Given the description of an element on the screen output the (x, y) to click on. 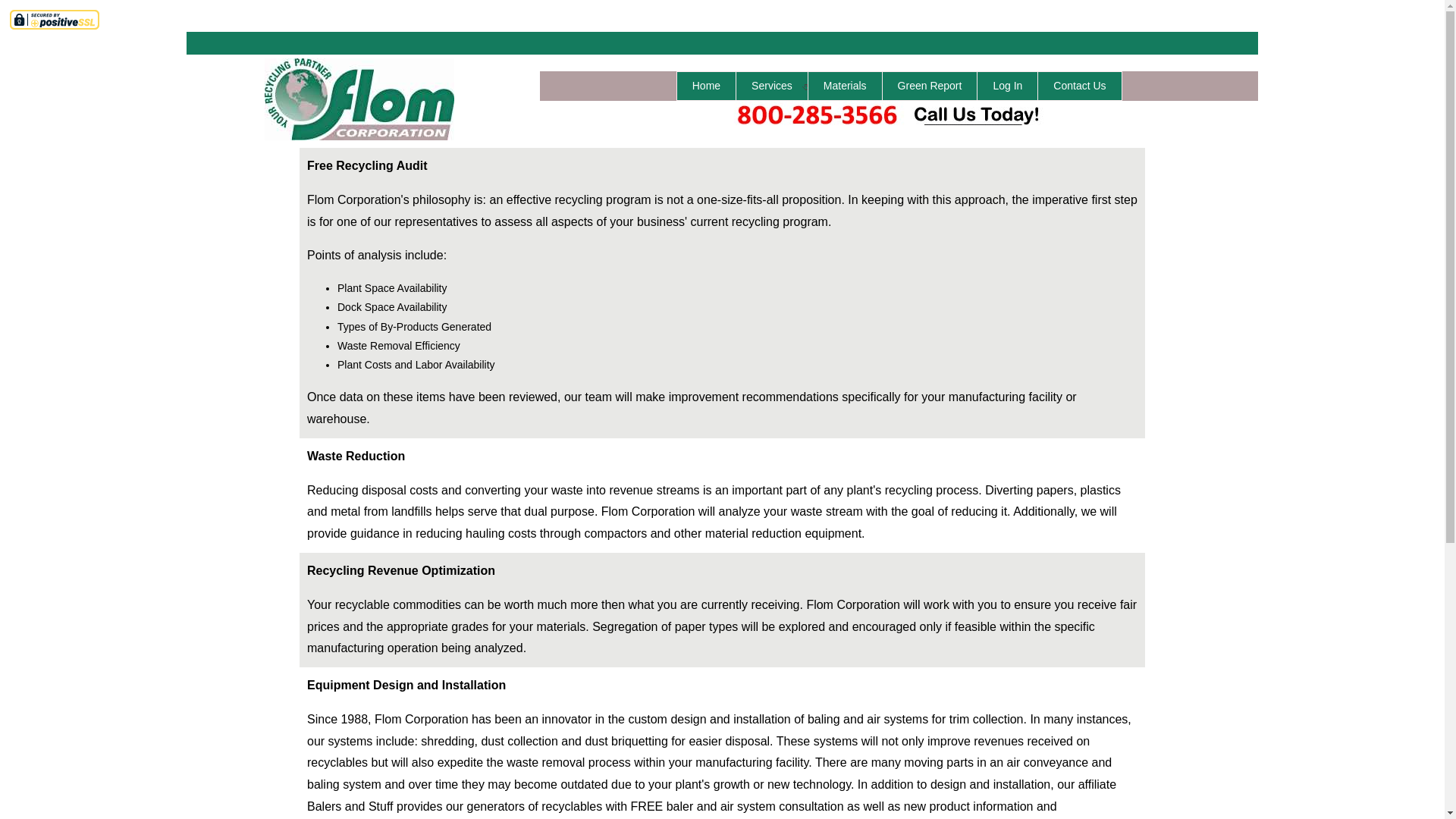
Home (706, 85)
Green Report (930, 85)
Services (771, 85)
Contact Us (1078, 85)
Log In (1007, 85)
Materials (845, 85)
